Given the description of an element on the screen output the (x, y) to click on. 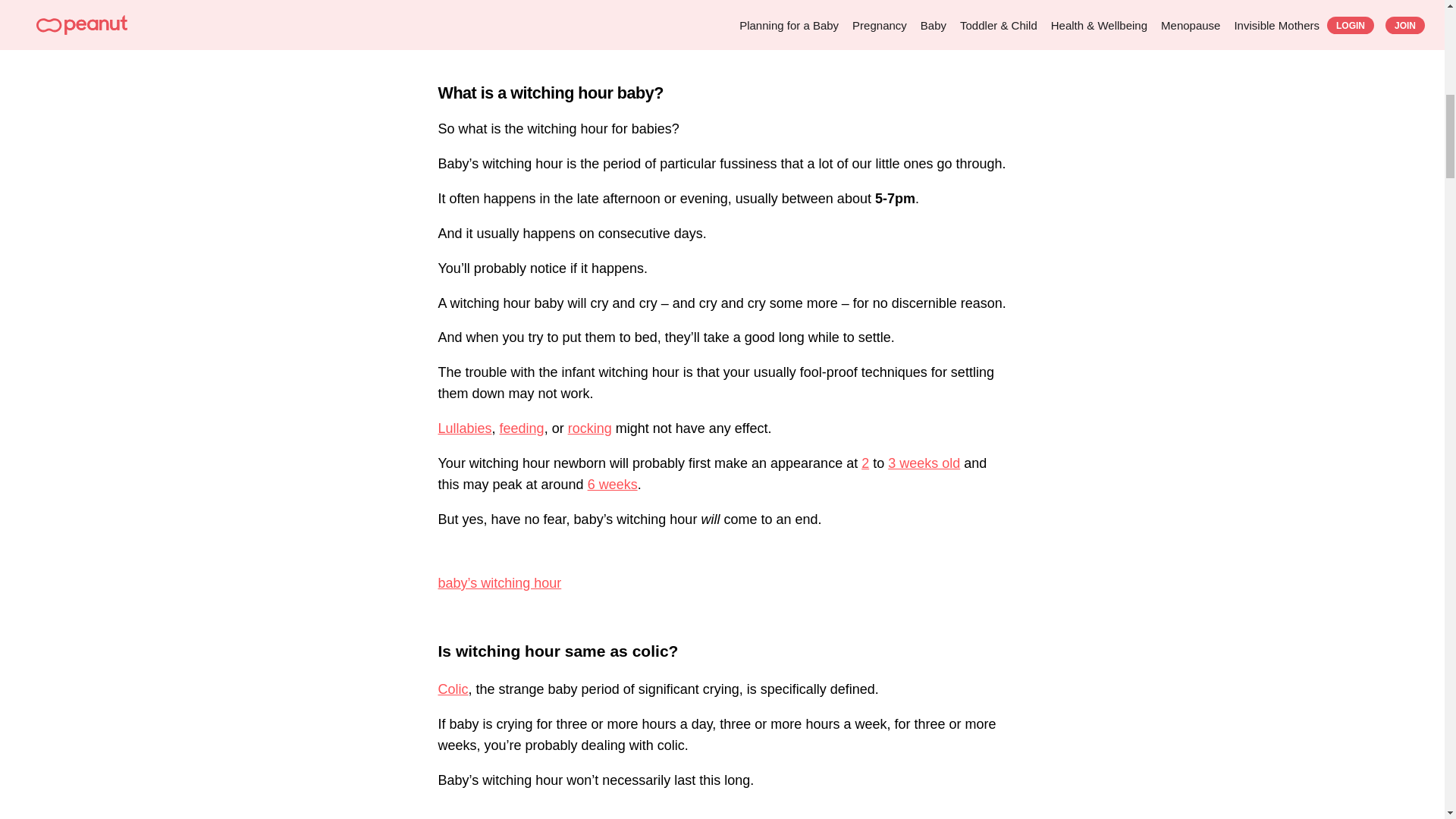
rocking (589, 427)
3 weeks old (923, 462)
Lullabies (465, 427)
6 weeks (612, 484)
feeding (521, 427)
Colic (453, 688)
